Given the description of an element on the screen output the (x, y) to click on. 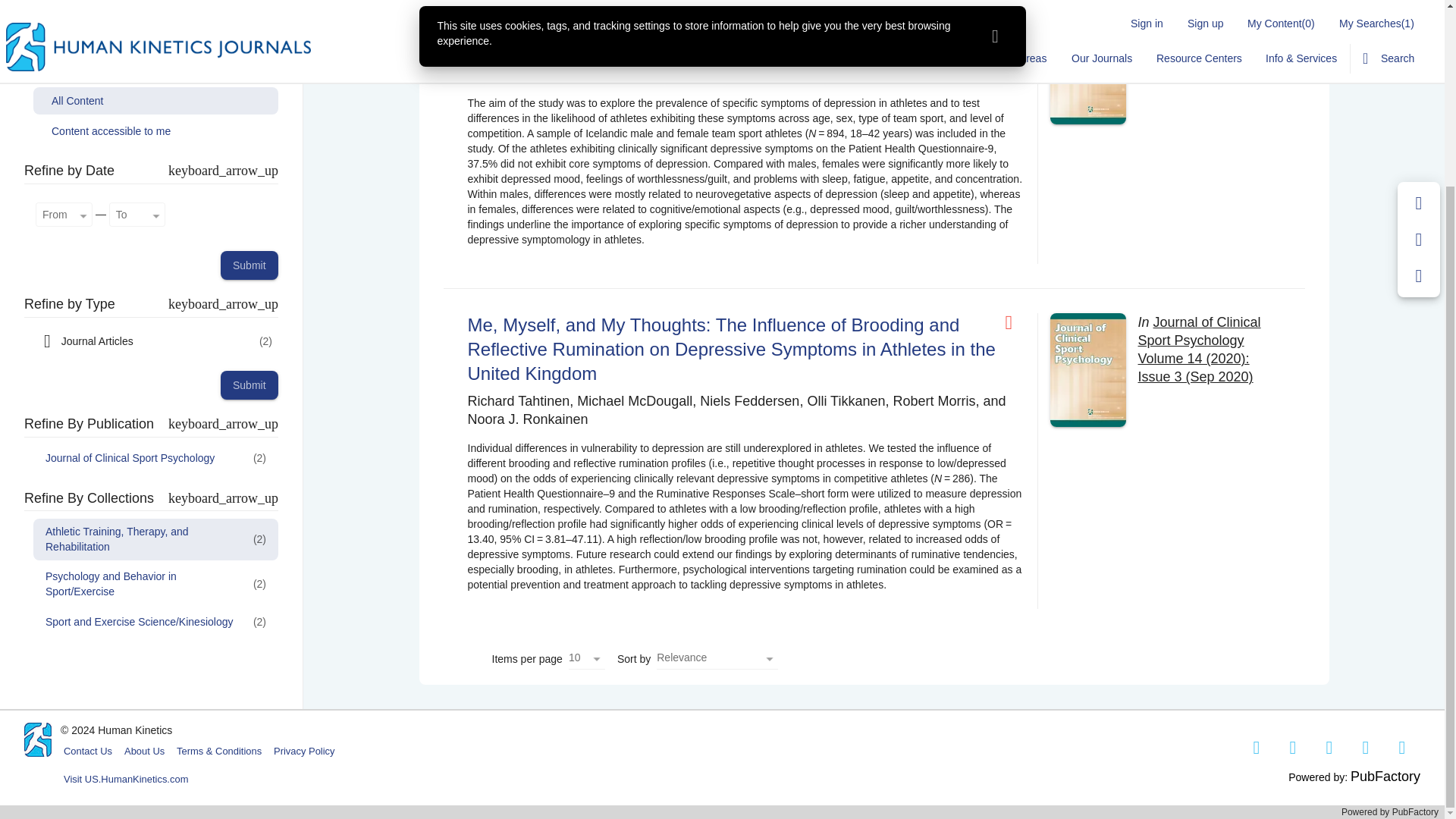
Email Page (1418, 13)
About Us (143, 750)
Open access (1015, 20)
Restricted access (1015, 322)
Contact Us (87, 750)
Privacy Policy (303, 750)
